Given the description of an element on the screen output the (x, y) to click on. 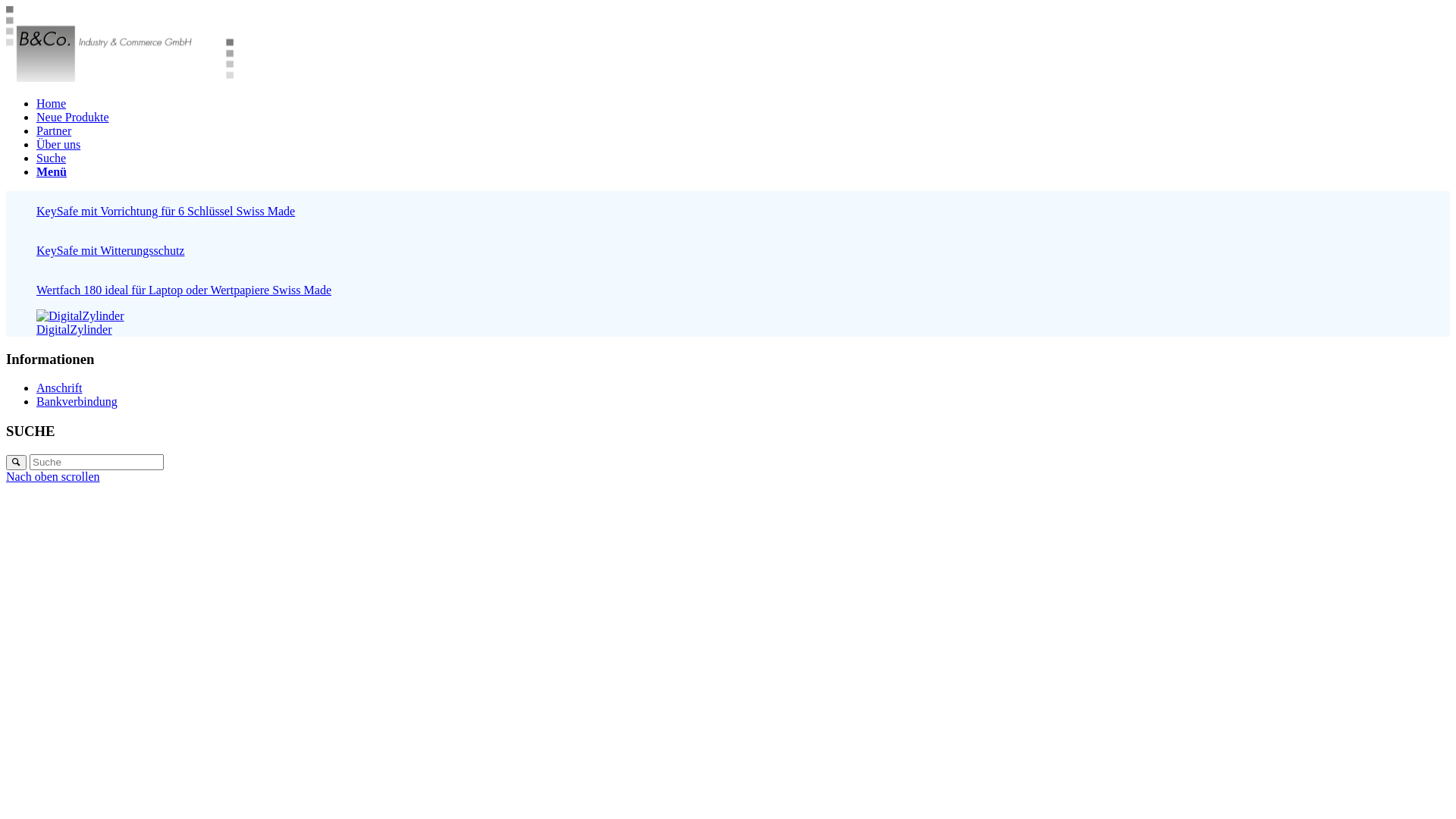
Suche Element type: text (50, 157)
Neue Produkte Element type: text (72, 116)
Home Element type: text (50, 103)
DigitalZylinder Element type: text (727, 322)
Nach oben scrollen Element type: text (53, 476)
KeySafe mit Witterungsschutz Element type: text (727, 243)
Partner Element type: text (53, 130)
Anschrift Element type: text (58, 387)
Bankverbindung Element type: text (76, 401)
DigitalZylinder Element type: hover (80, 316)
